Given the description of an element on the screen output the (x, y) to click on. 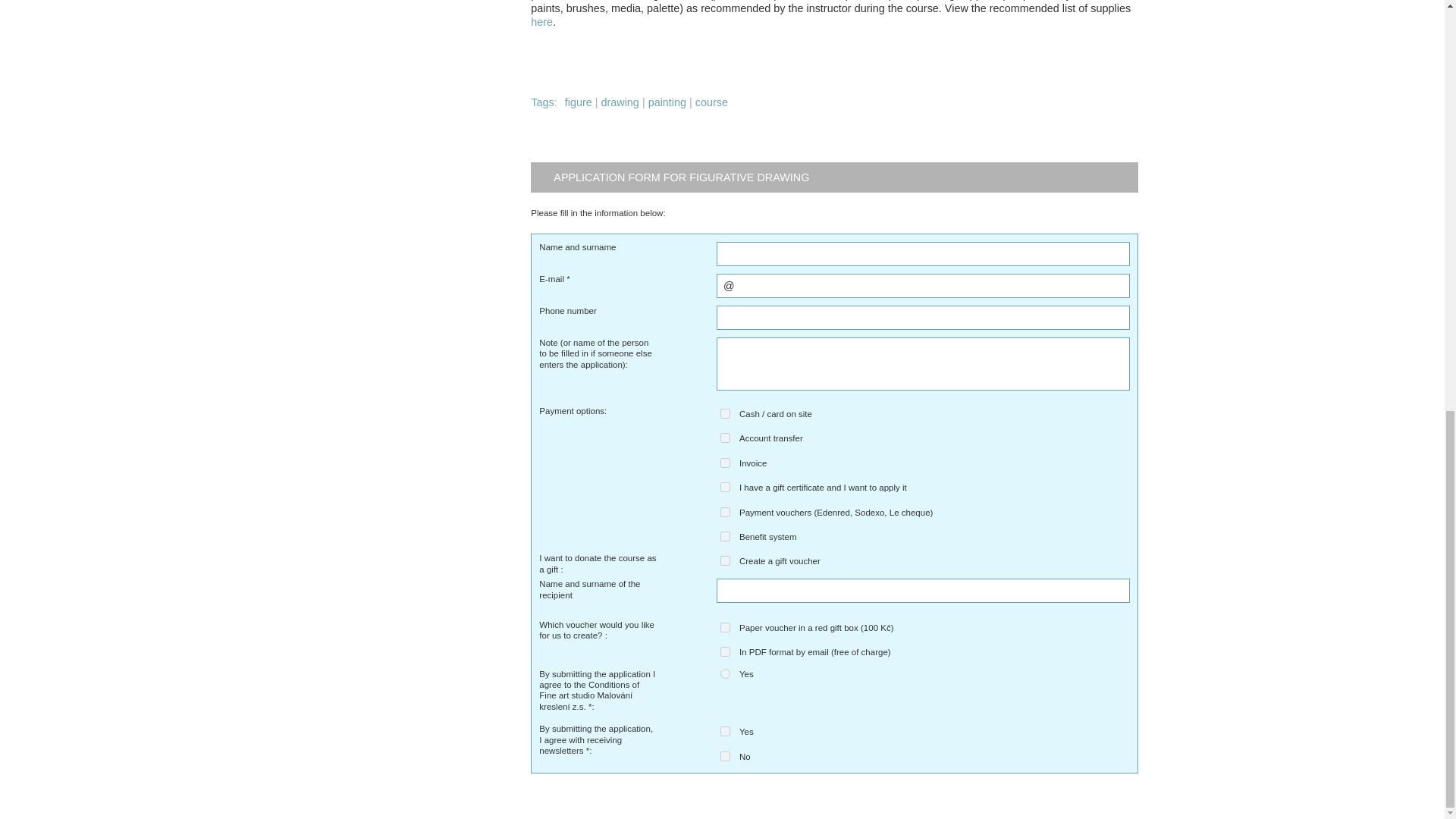
Invoice (725, 462)
Yes (725, 673)
No (725, 756)
I have a gift certificate and I want to apply it (725, 487)
Benefit system (725, 536)
Create a gift voucher (725, 560)
Account transfer (725, 438)
Yes (725, 731)
